Given the description of an element on the screen output the (x, y) to click on. 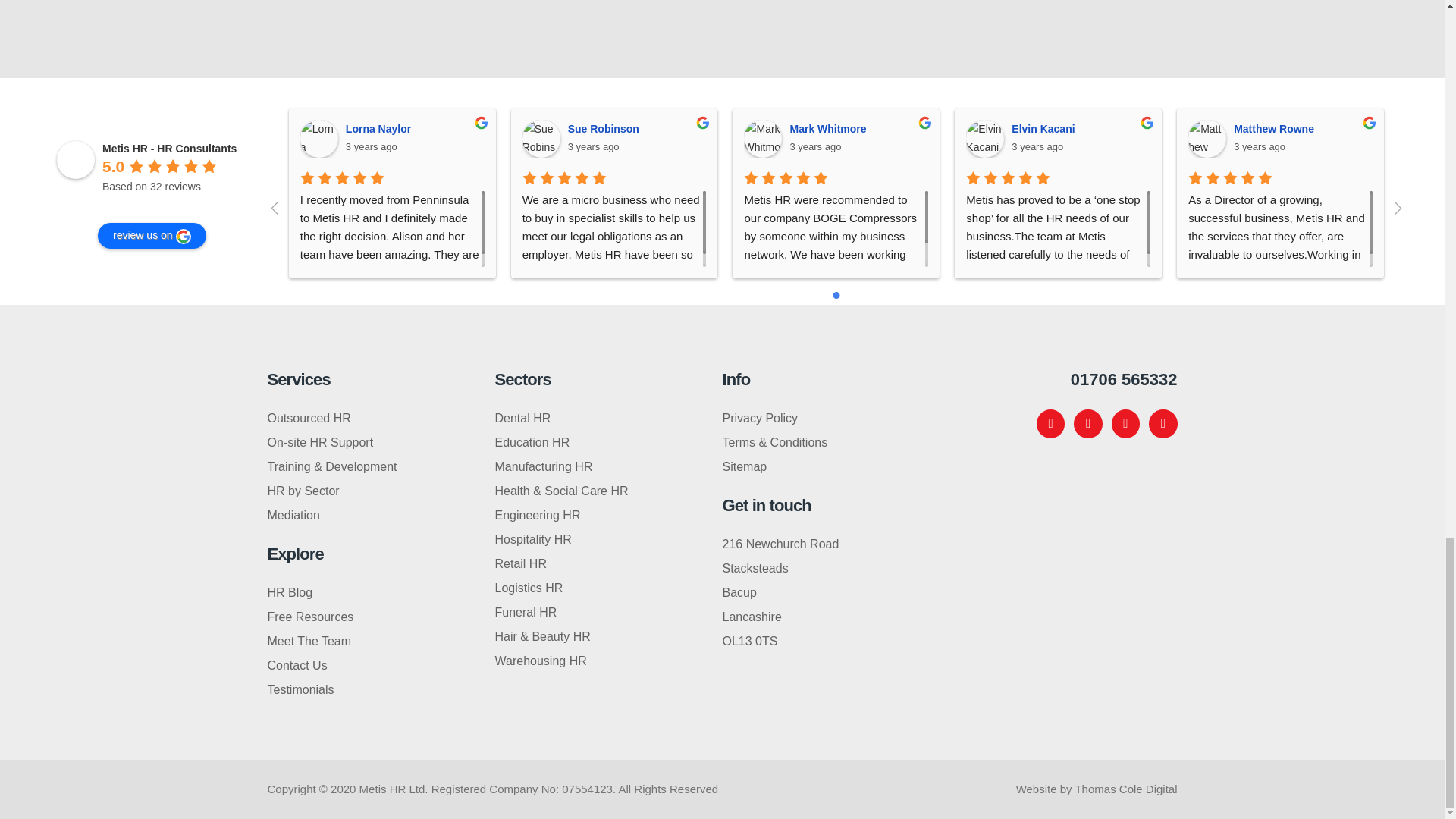
Matthew Rowne (1206, 138)
powered by Google (156, 205)
Lorna Naylor (318, 138)
Mark Whitmore (762, 138)
Metis HR - HR Consultants (75, 159)
Sue Robinson (541, 138)
Elvin Kacani (985, 138)
